Given the description of an element on the screen output the (x, y) to click on. 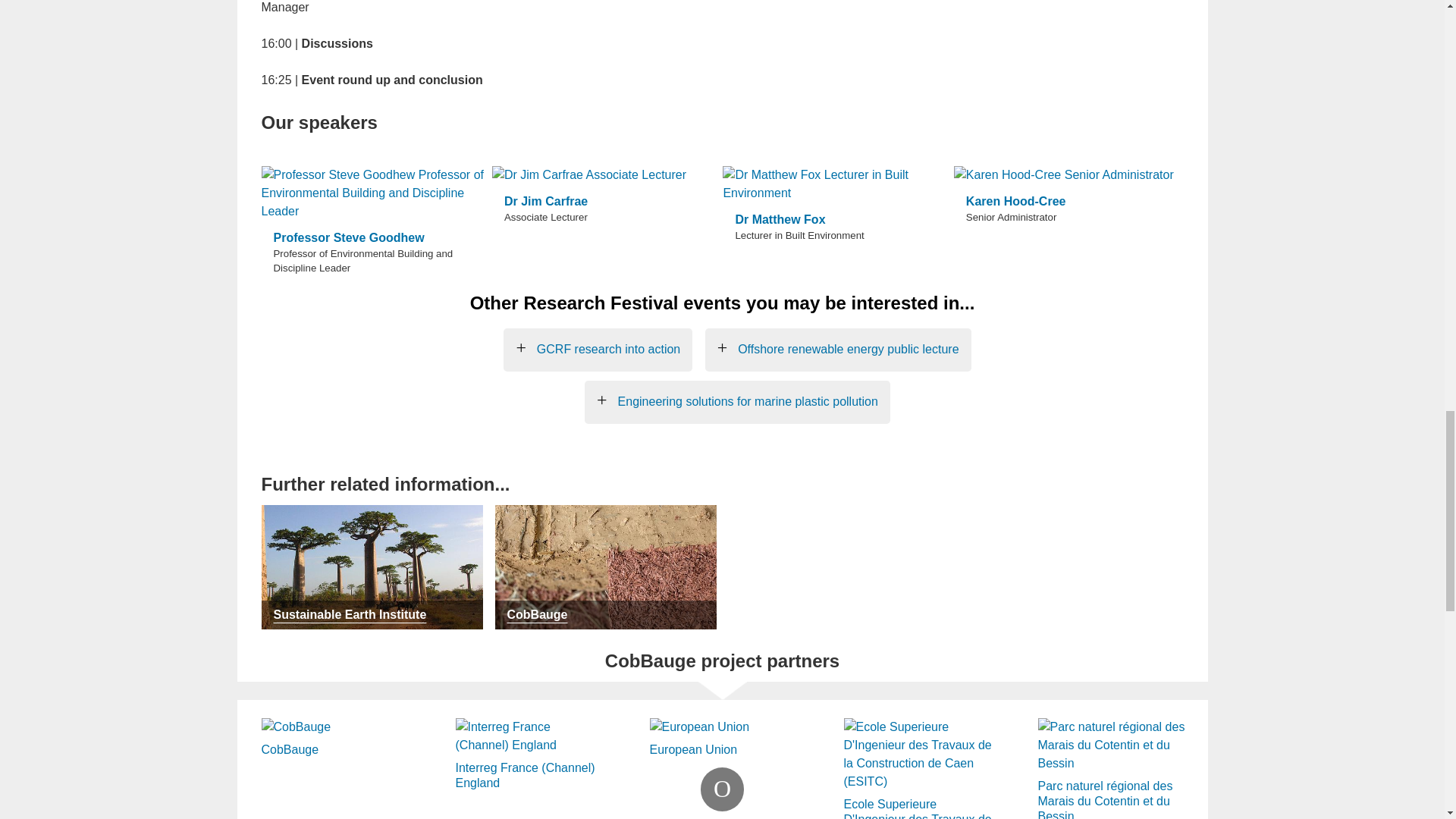
Professor Steve Goodhew (376, 193)
Karen Hood-Cree (1069, 175)
Dr Jim Carfrae (607, 175)
CobBauge (334, 730)
European Union (723, 730)
Dr Matthew Fox (837, 184)
